Given the description of an element on the screen output the (x, y) to click on. 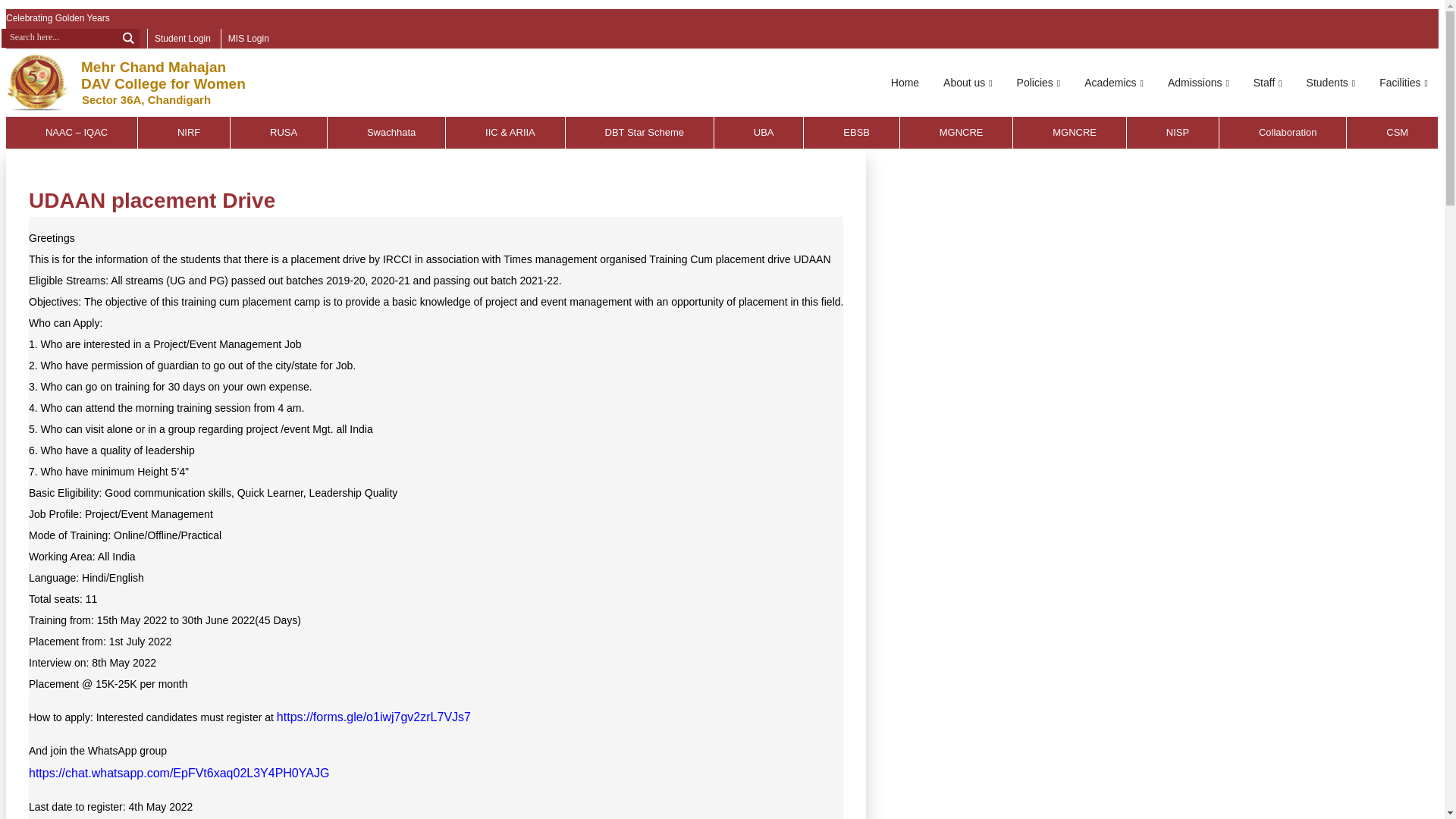
Student Login (182, 38)
Home (905, 82)
About us (968, 82)
Policies (1038, 82)
Academics (1114, 82)
MIS Login (248, 38)
